Given the description of an element on the screen output the (x, y) to click on. 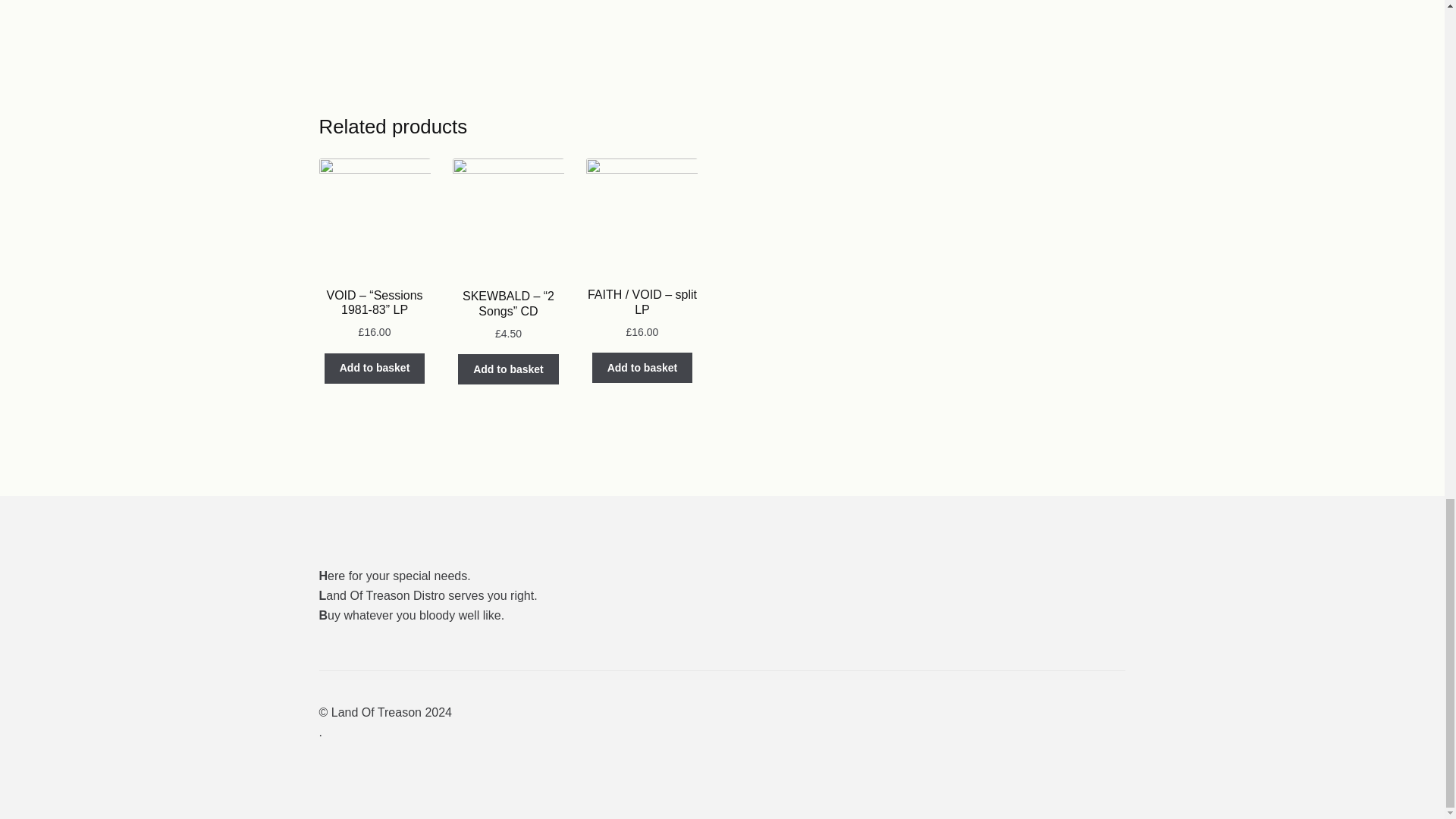
Add to basket (507, 368)
Add to basket (642, 367)
Add to basket (374, 368)
